Given the description of an element on the screen output the (x, y) to click on. 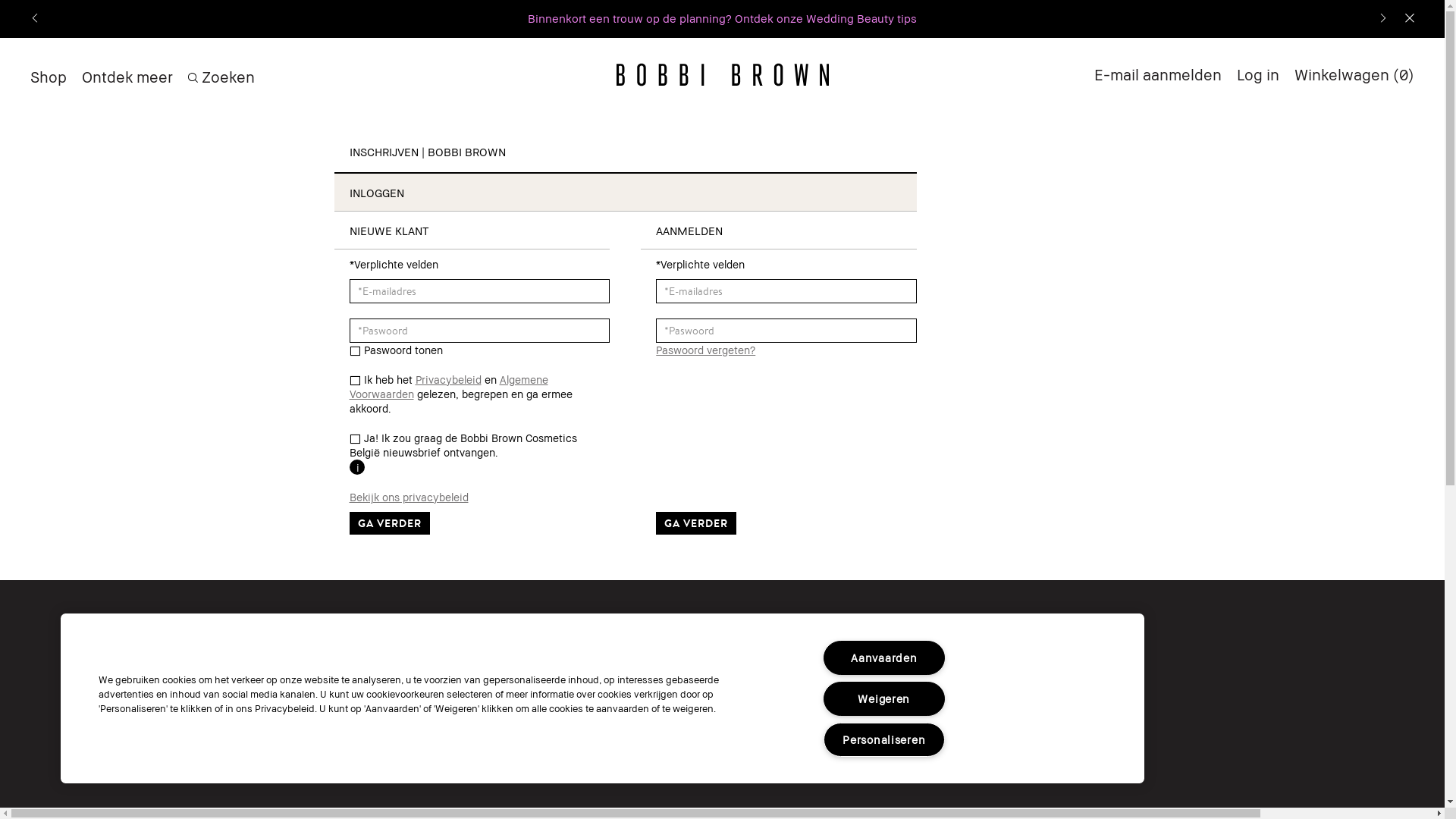
GA VERDER Element type: text (695, 522)
Winkelwagen (0) Element type: text (1354, 74)
Aanvaarden Element type: text (883, 657)
i Element type: text (356, 466)
Bekijk ons privacybeleid Element type: text (478, 496)
Algemene Voorwaarden Element type: text (447, 386)
GA VERDER Element type: text (388, 522)
Log in Element type: text (1257, 74)
Personaliseren Element type: text (883, 739)
BobbiBrown BobbiBrown Element type: text (721, 74)
Privacybeleid Element type: text (448, 379)
Gratis verzending bij elke bestelling Element type: text (721, 18)
Paswoord vergeten? Element type: text (705, 348)
Weigeren Element type: text (883, 698)
E-mail aanmelden Element type: text (1157, 74)
